Given the description of an element on the screen output the (x, y) to click on. 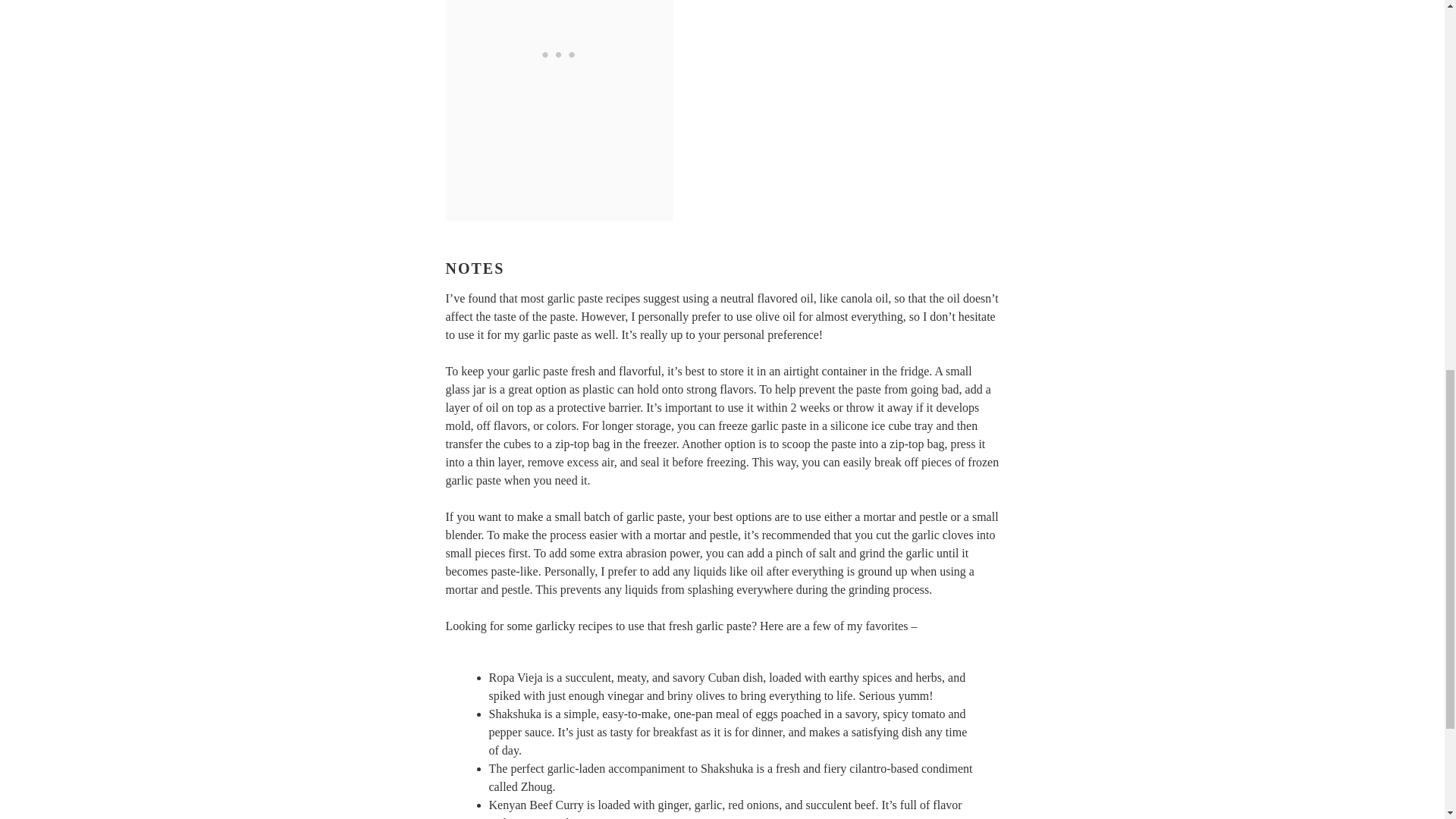
Zhoug (537, 786)
Ropa Vieja (514, 676)
Shakshuka (513, 713)
Kenyan Beef Curry (535, 804)
